Given the description of an element on the screen output the (x, y) to click on. 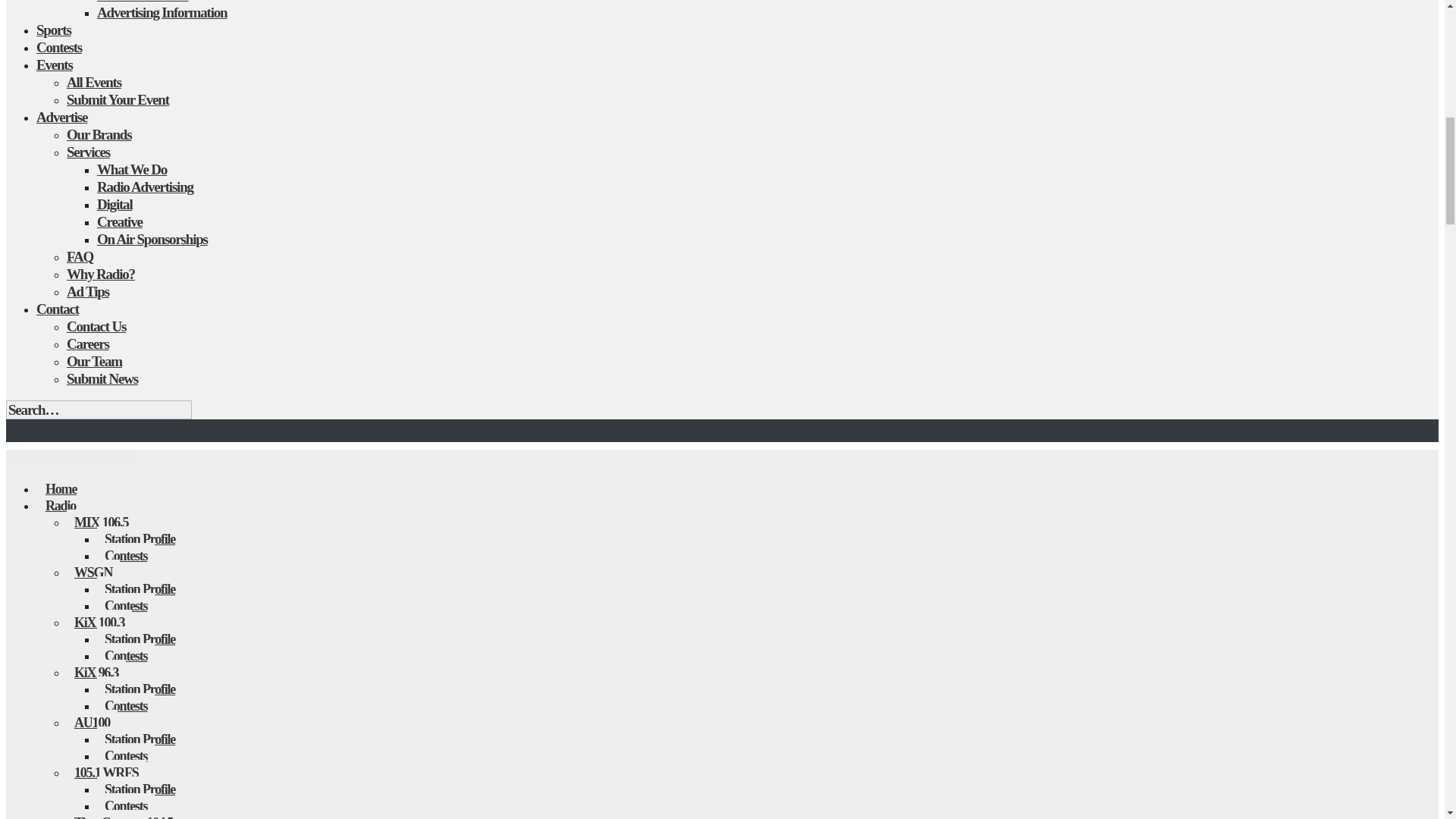
RadioAlabama (70, 459)
